Given the description of an element on the screen output the (x, y) to click on. 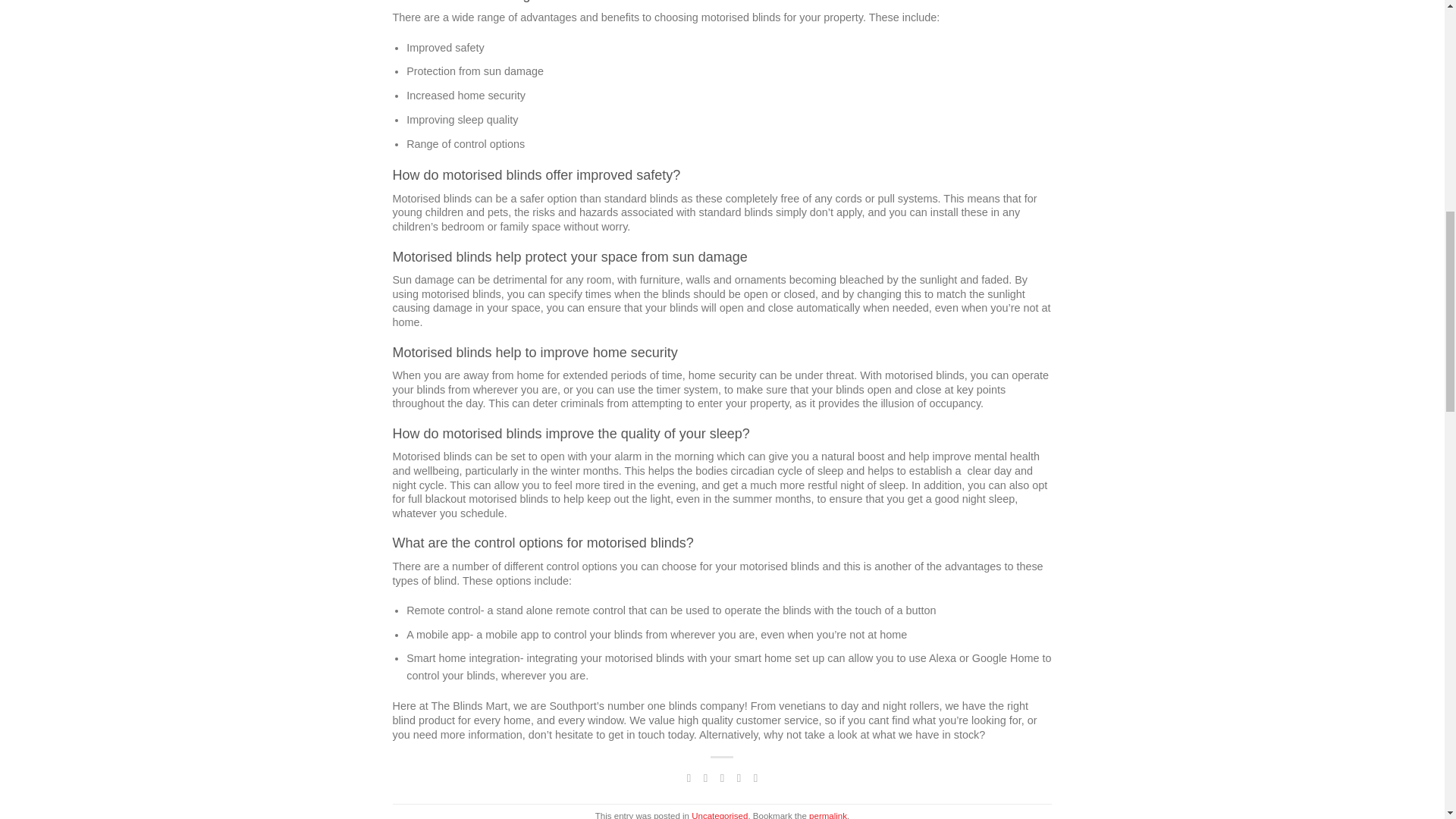
Email to a Friend (722, 777)
Share on LinkedIn (755, 777)
Pin on Pinterest (738, 777)
Share on Twitter (705, 777)
Share on Facebook (688, 777)
Permalink to Advantages of motorised blinds (828, 815)
